Given the description of an element on the screen output the (x, y) to click on. 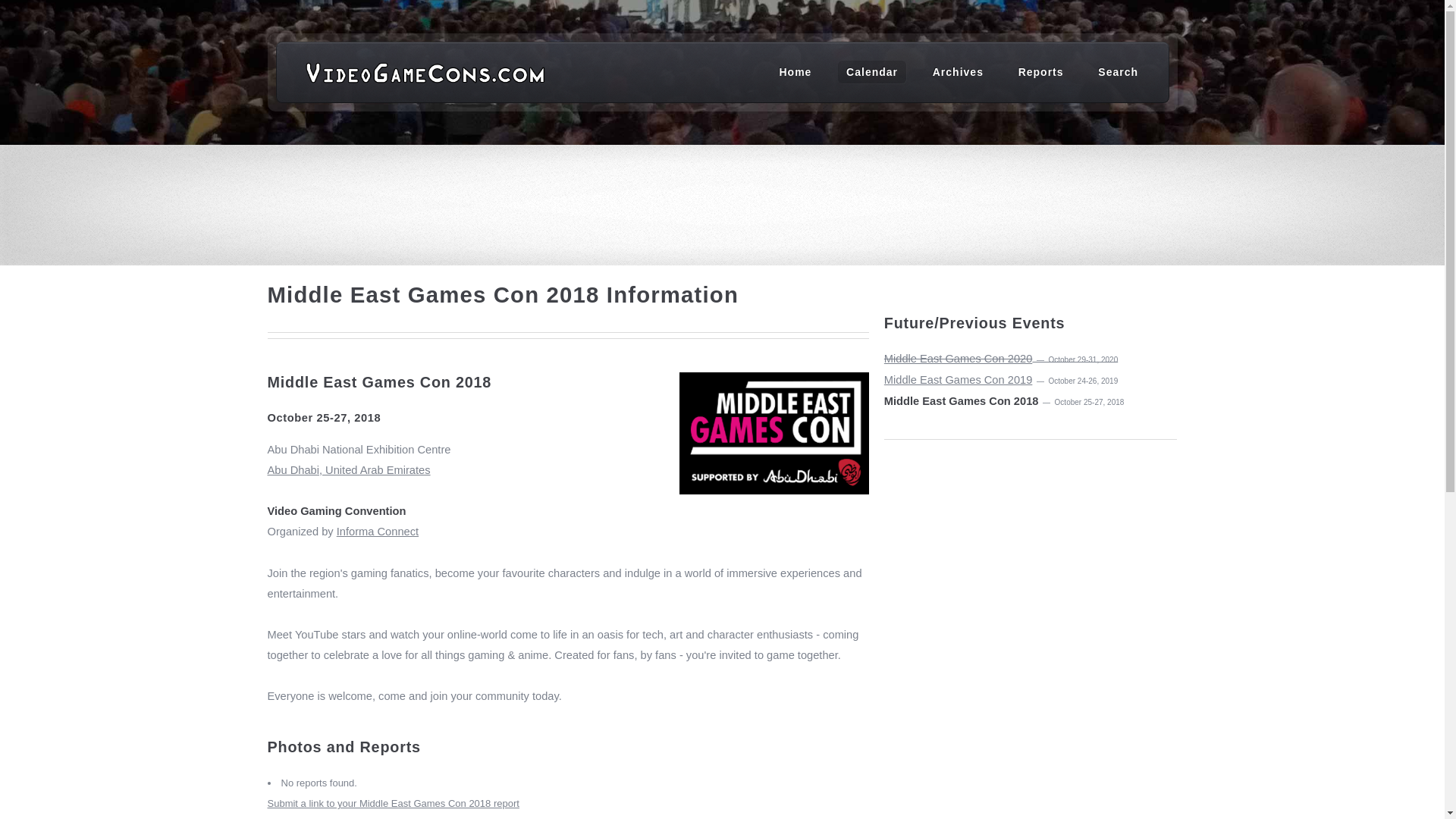
Abu Dhabi, United Arab Emirates (566, 480)
Informa Connect (377, 531)
Reports (1040, 71)
Middle East Games Con 2020 (957, 358)
Search (1118, 71)
Home (794, 71)
Middle East Games Con 2019 (957, 379)
Calendar (871, 71)
Submit a link to your Middle East Games Con 2018 report (392, 803)
3rd party ad content (722, 196)
Archives (957, 71)
